Given the description of an element on the screen output the (x, y) to click on. 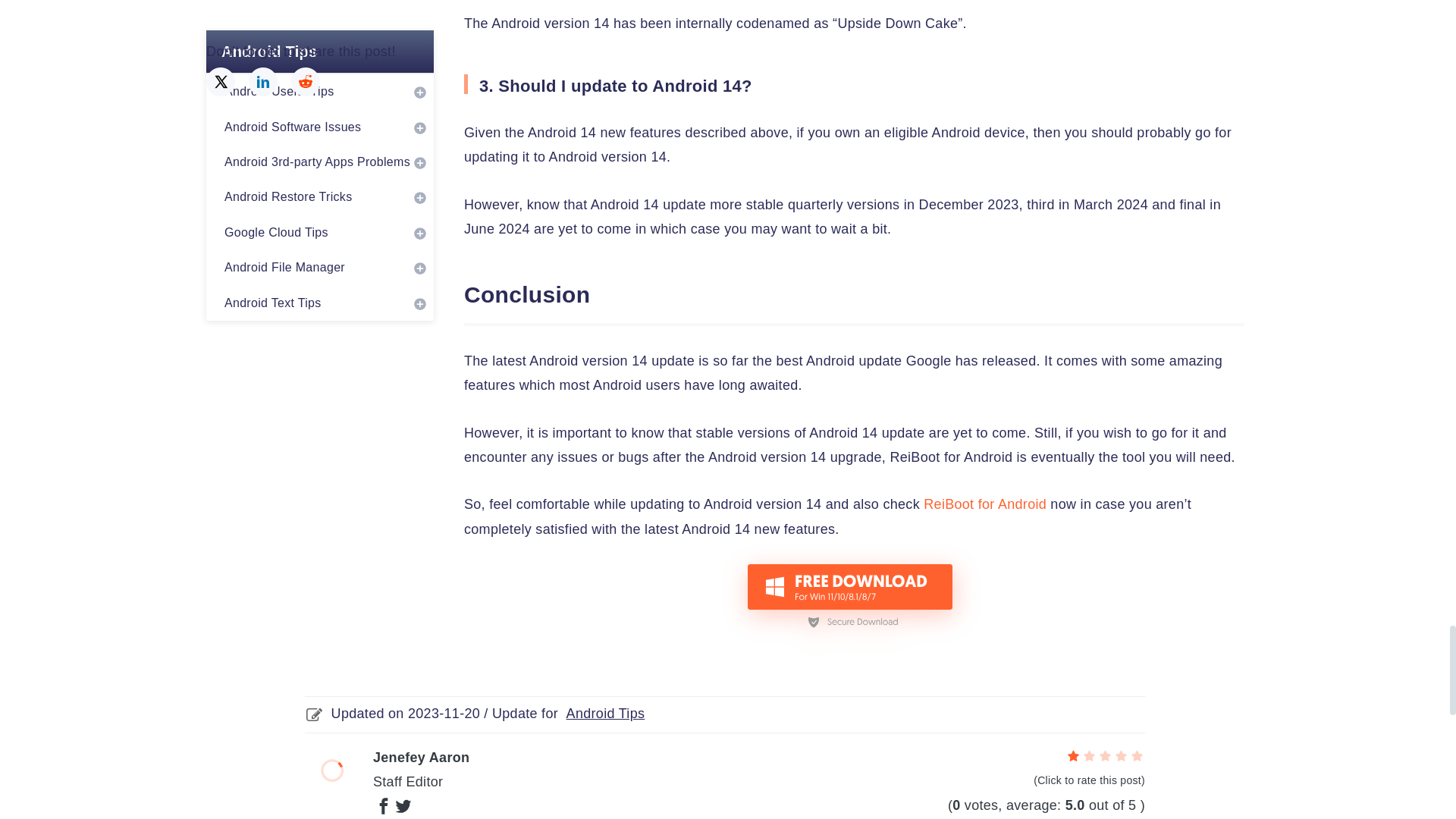
5 (1136, 756)
2 (1089, 756)
3 (1105, 756)
1 (1073, 756)
4 (1120, 756)
